Given the description of an element on the screen output the (x, y) to click on. 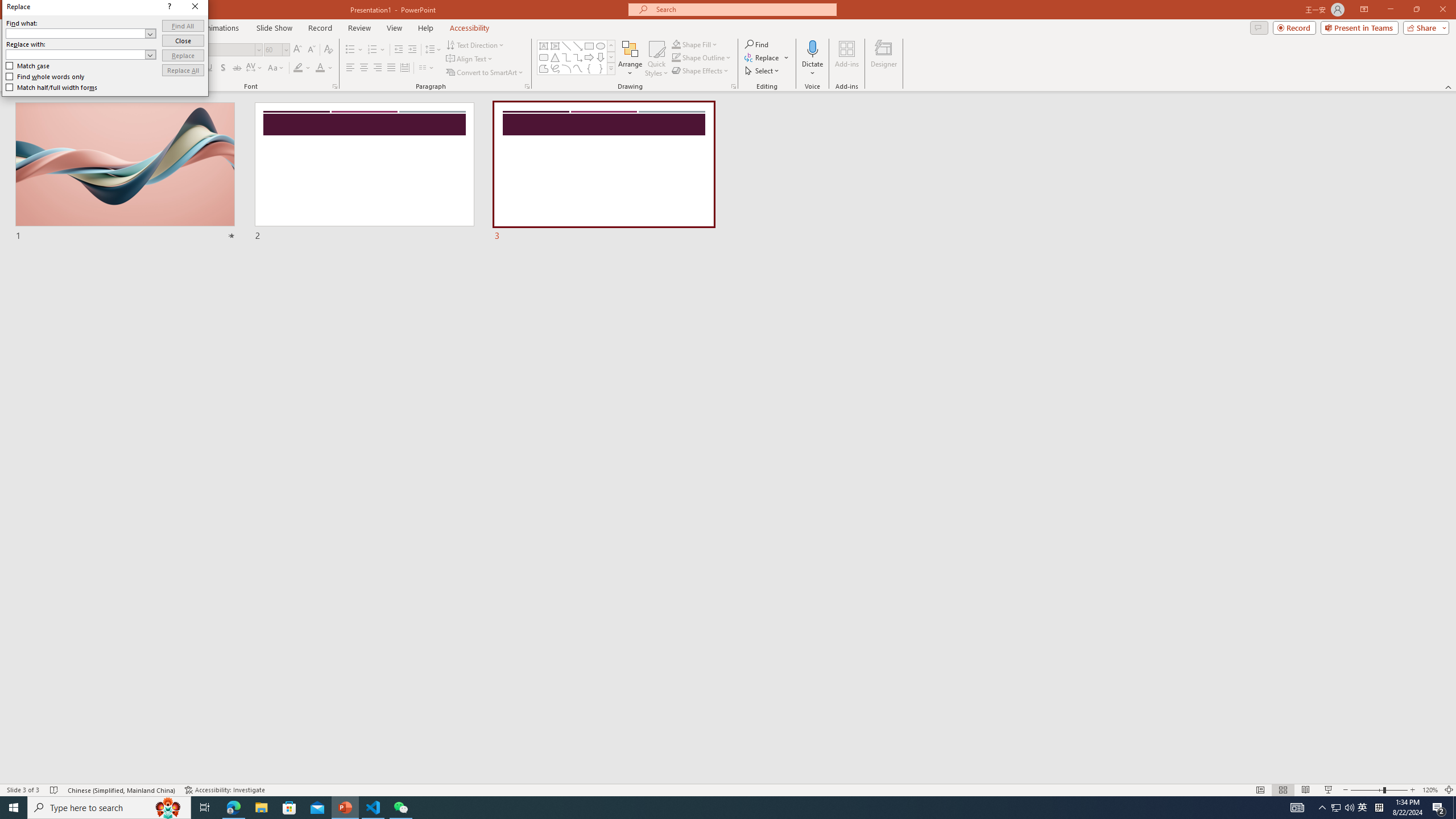
Align Right (377, 67)
User Promoted Notification Area (1342, 807)
Shape Outline Blue, Accent 1 (675, 56)
Rectangle: Rounded Corners (543, 57)
Line Spacing (433, 49)
Type here to search (108, 807)
Find All (183, 25)
PowerPoint - 1 running window (345, 807)
File Explorer (261, 807)
Find what (80, 33)
Replace with (80, 54)
Task View (204, 807)
